Given the description of an element on the screen output the (x, y) to click on. 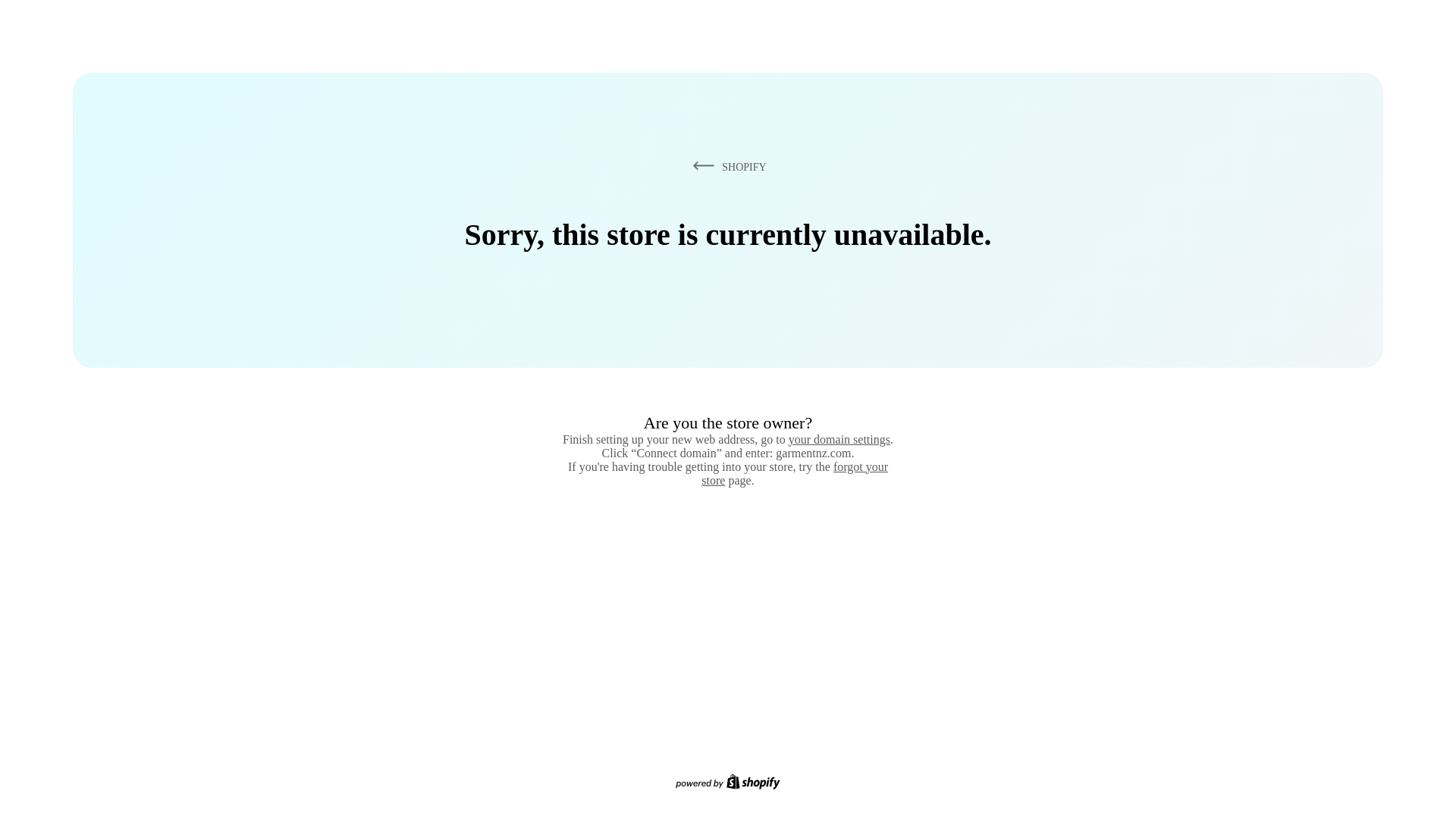
forgot your store (794, 473)
SHOPIFY (726, 166)
your domain settings (839, 439)
